Given the description of an element on the screen output the (x, y) to click on. 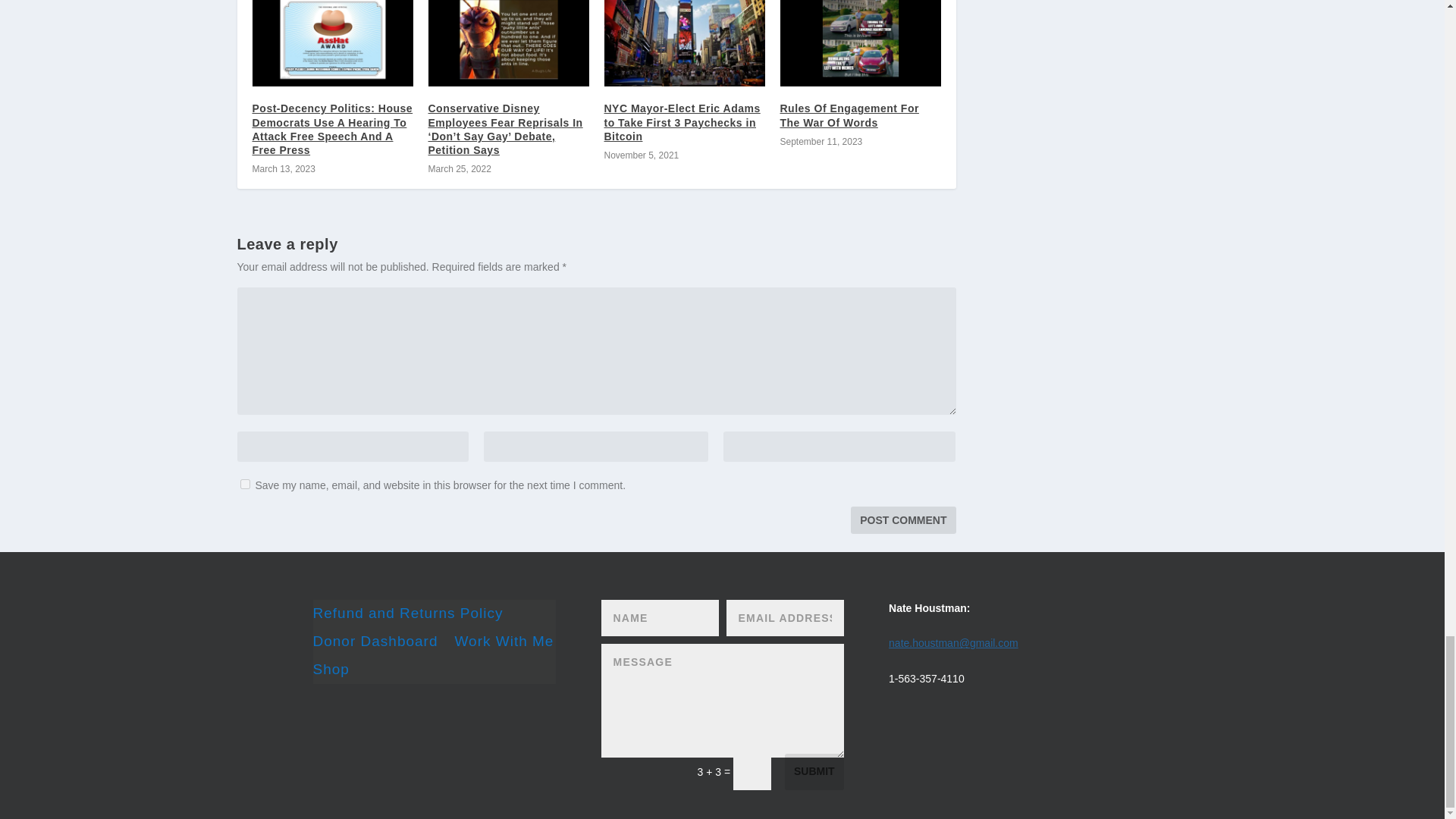
yes (244, 483)
Post Comment (902, 519)
